Given the description of an element on the screen output the (x, y) to click on. 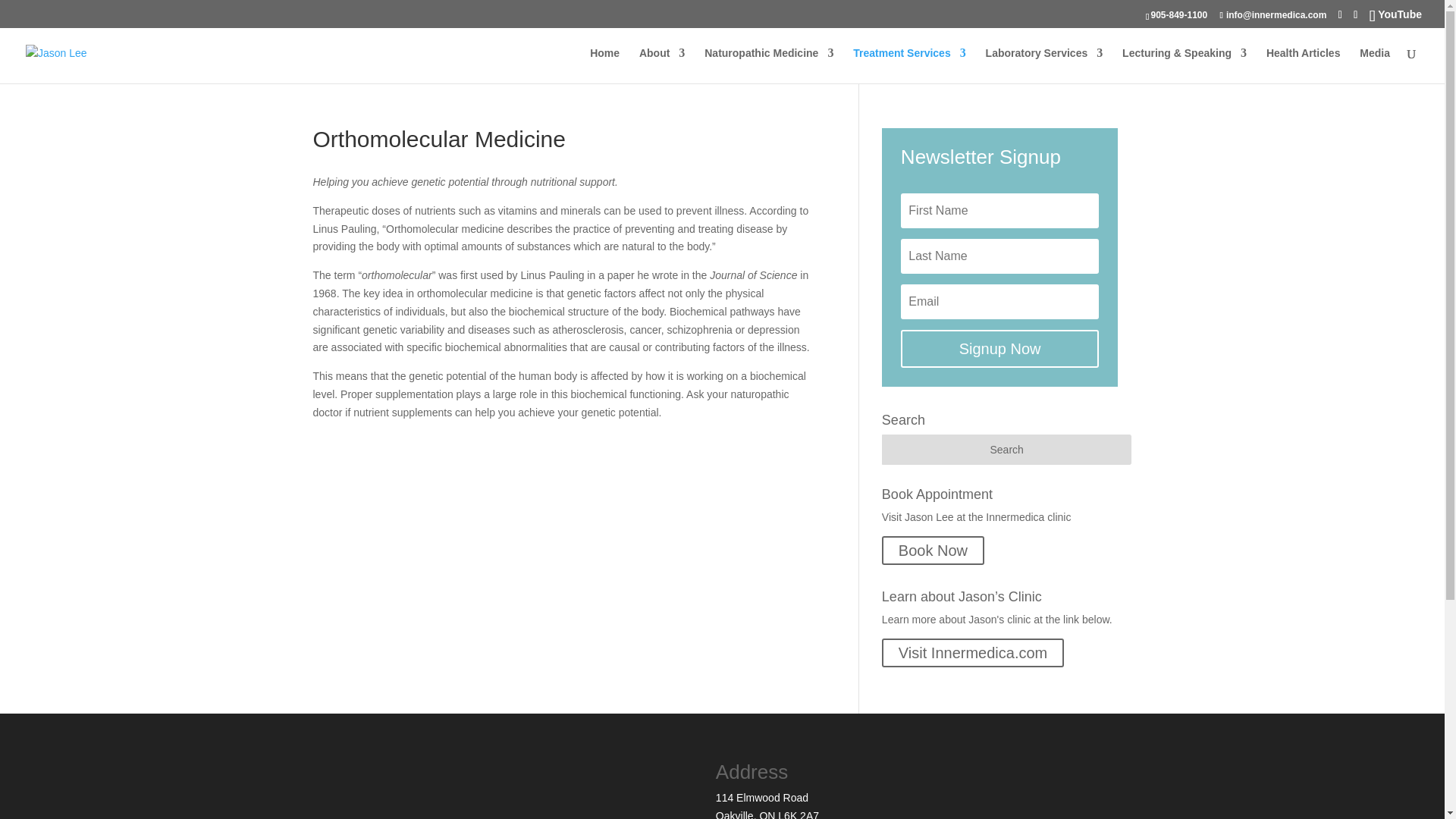
Treatment Services (909, 65)
Naturopathic Medicine (768, 65)
About (661, 65)
YouTube (1396, 12)
Home (604, 65)
Search (1007, 449)
